Given the description of an element on the screen output the (x, y) to click on. 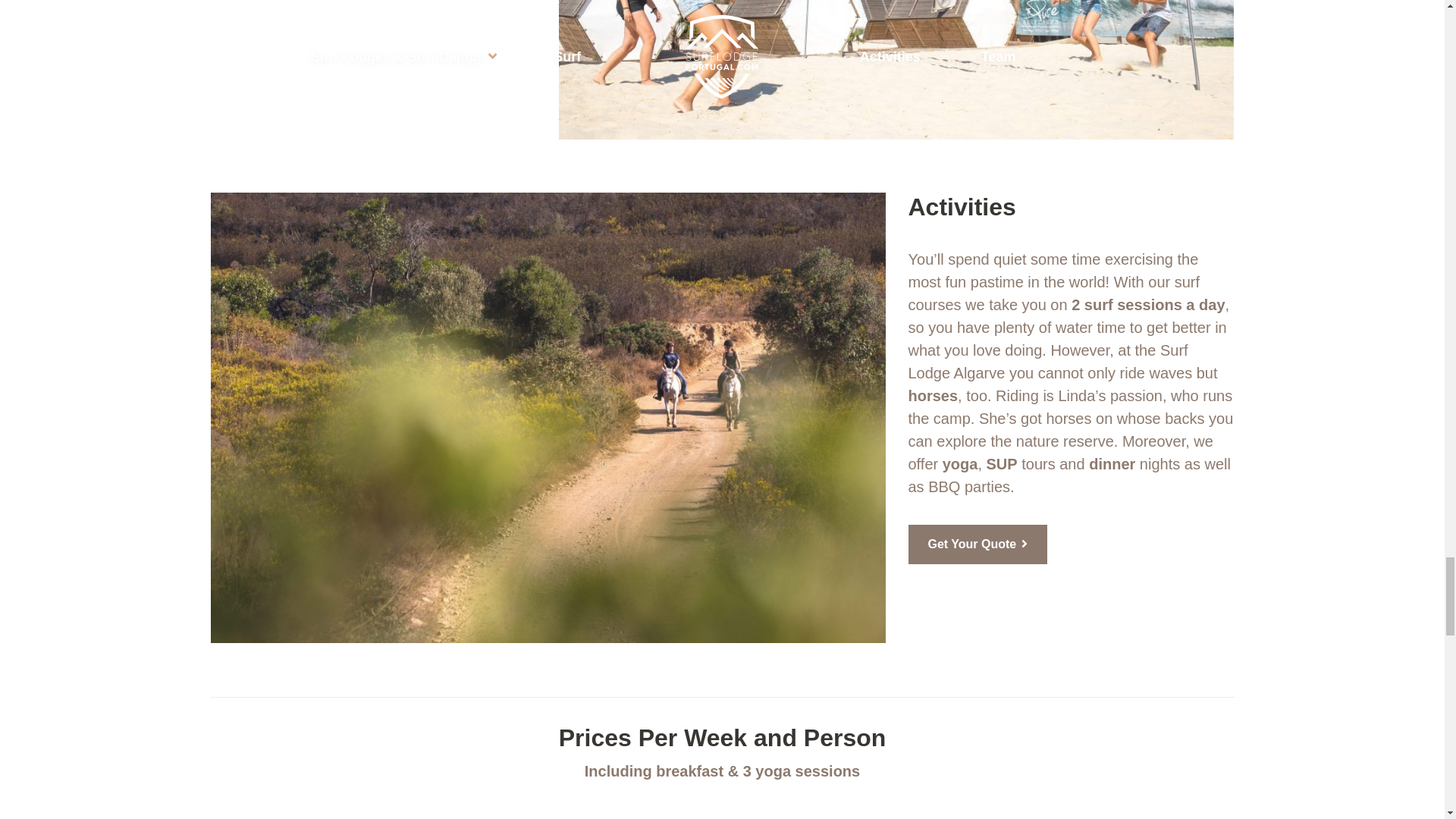
Get Your Quote (978, 544)
Get Your Quote (978, 544)
